Given the description of an element on the screen output the (x, y) to click on. 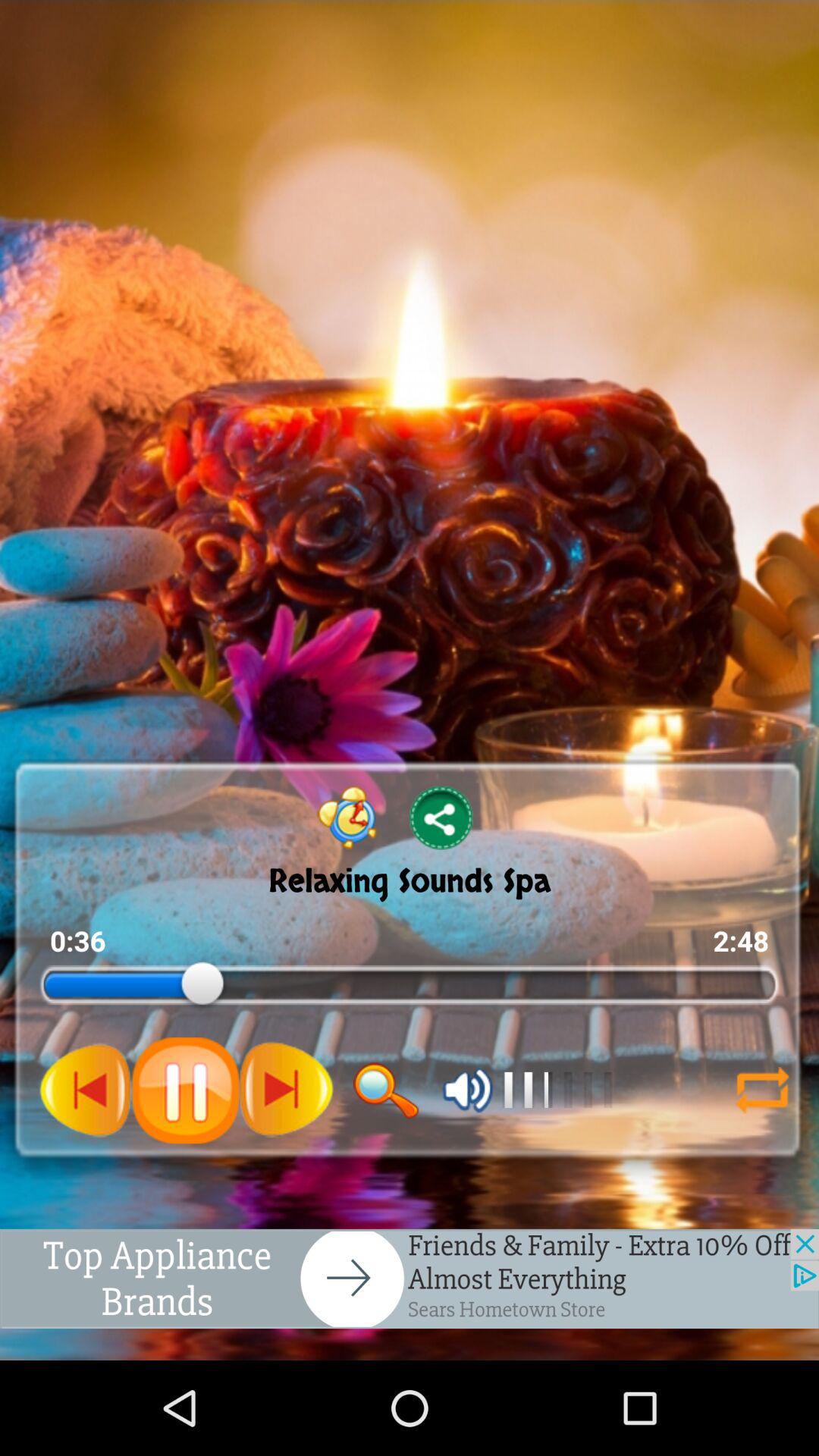
edit the alarms (347, 817)
